Given the description of an element on the screen output the (x, y) to click on. 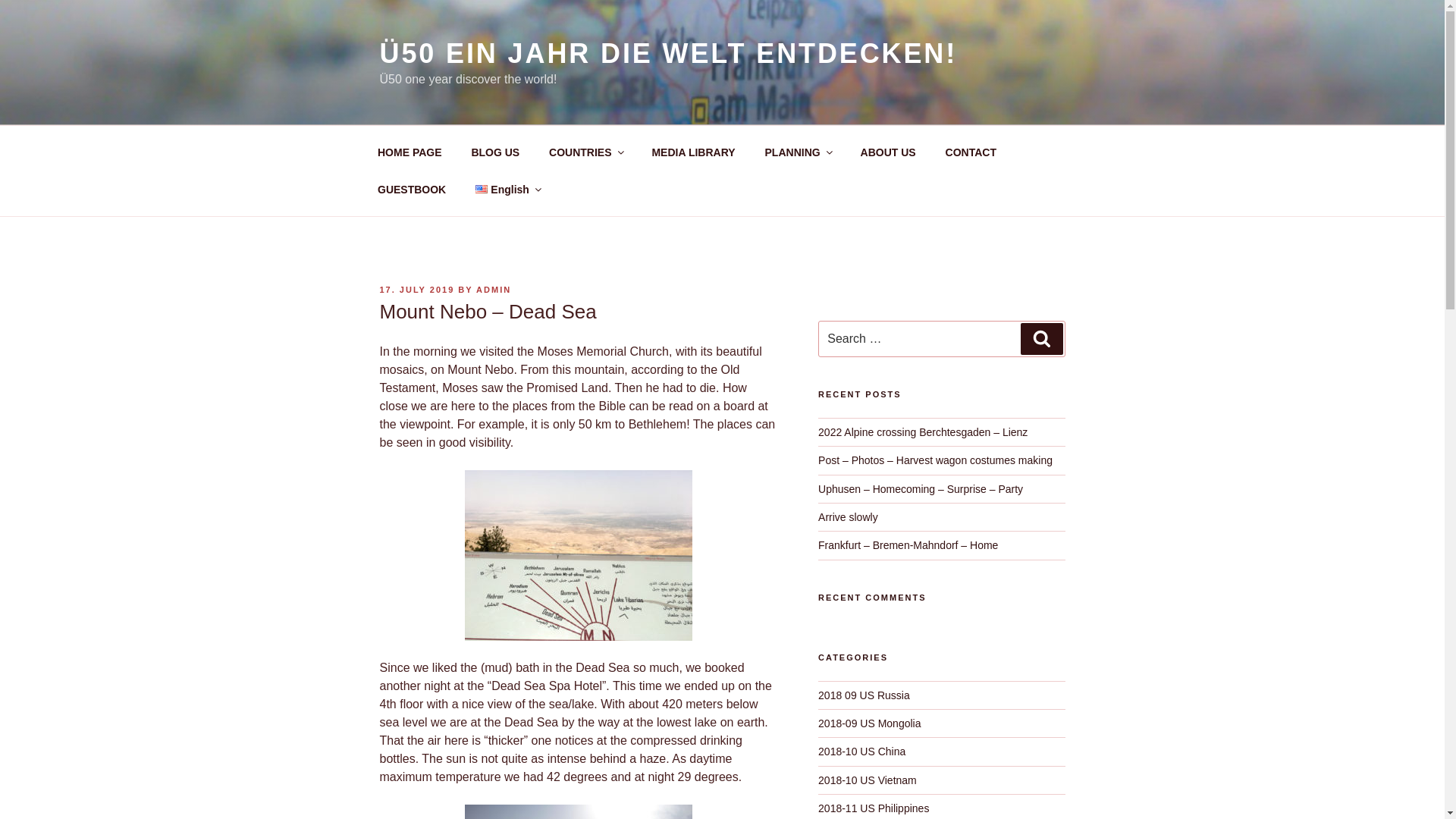
2018-10 Vietnam (867, 779)
GUESTBOOK (411, 189)
PLANNING (797, 151)
2018-10 China (861, 751)
BLOG US (495, 151)
English (508, 189)
2018-09 Mongolei (869, 723)
ABOUT US (887, 151)
MEDIA LIBRARY (693, 151)
COUNTRIES (584, 151)
